Given the description of an element on the screen output the (x, y) to click on. 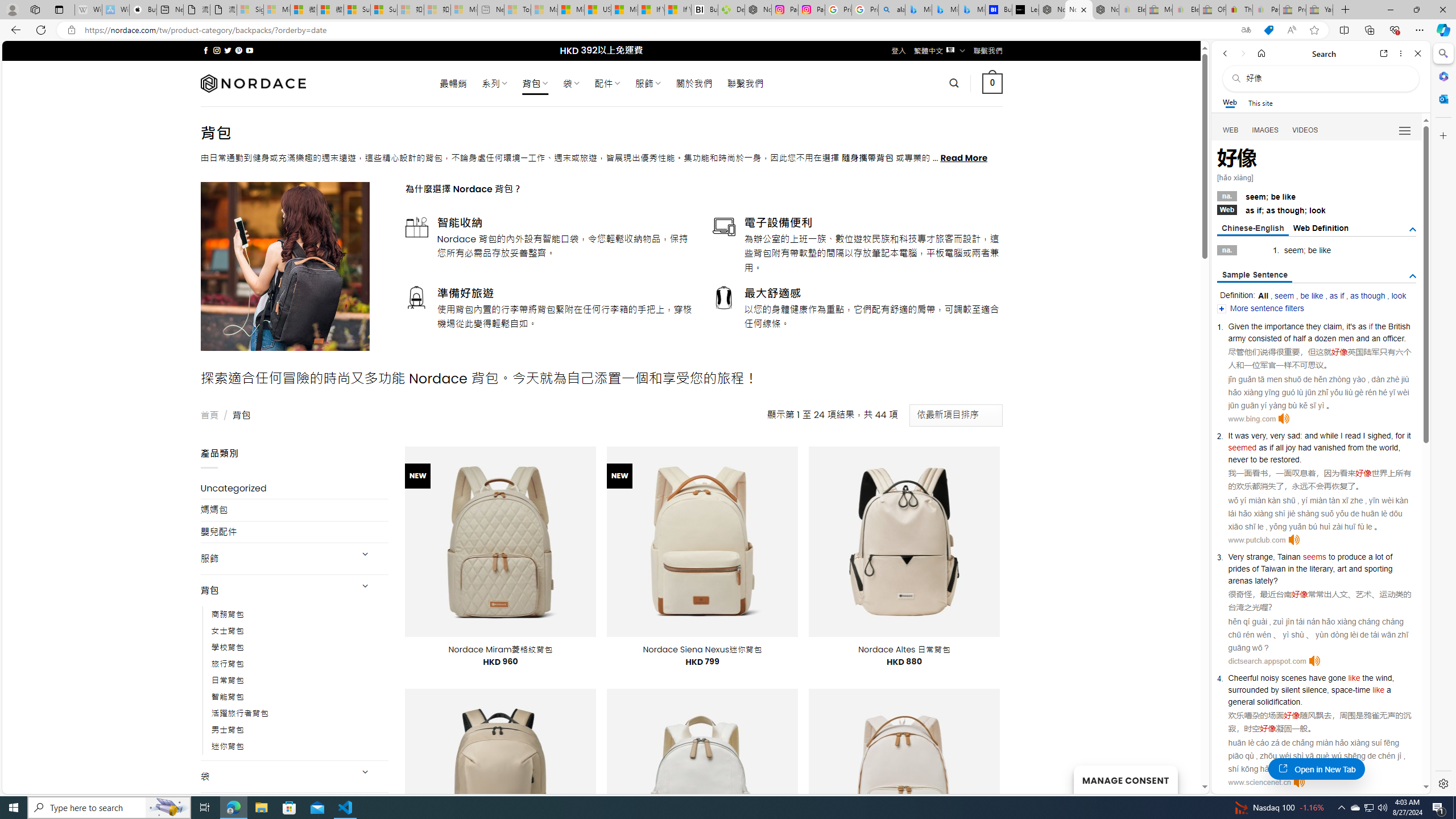
? (1275, 580)
as though (1367, 295)
a (1388, 689)
joy (1290, 447)
This site has coupons! Shopping in Microsoft Edge (1268, 29)
be like (1311, 295)
